Given the description of an element on the screen output the (x, y) to click on. 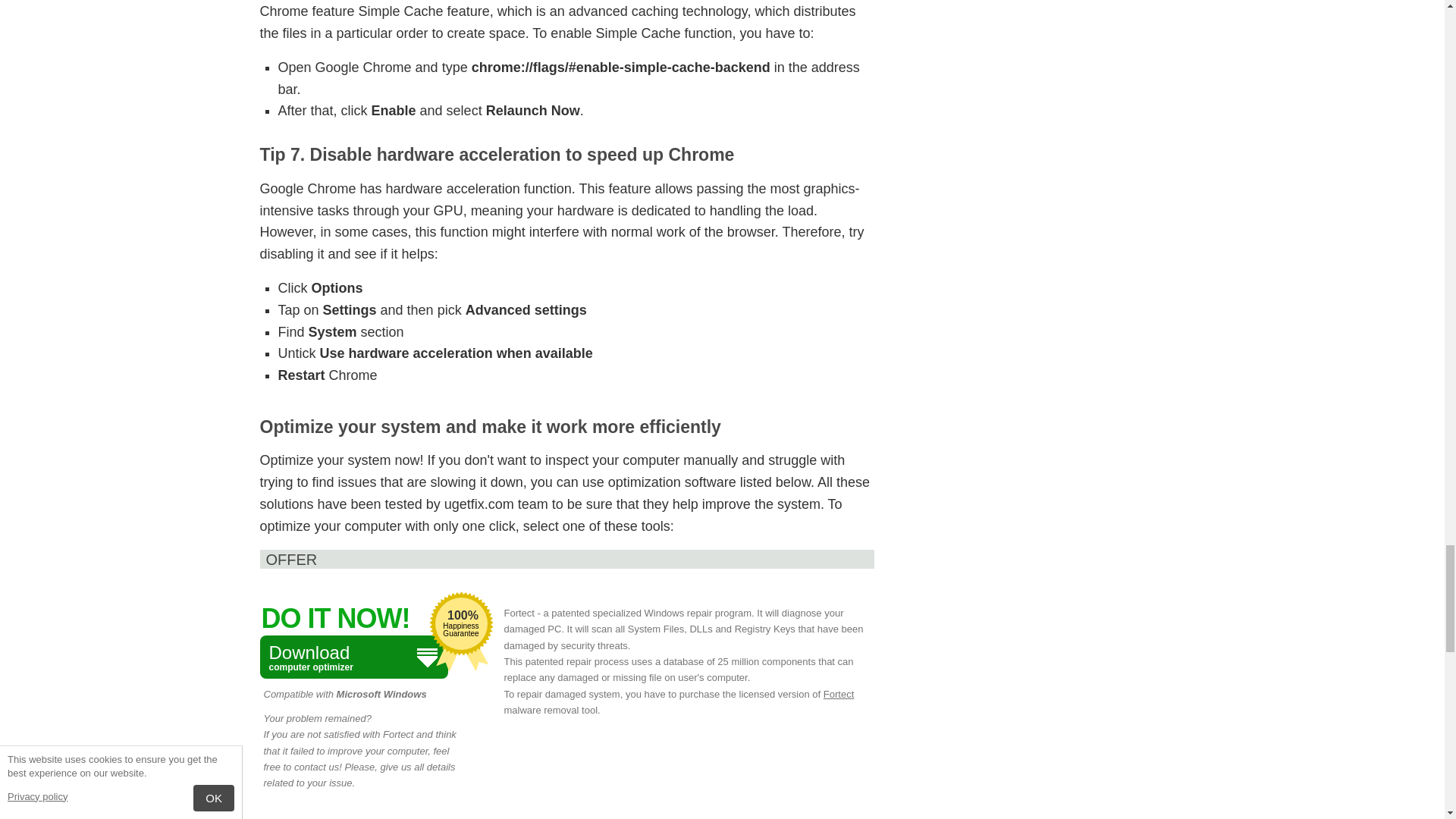
Fortect (352, 657)
